Given the description of an element on the screen output the (x, y) to click on. 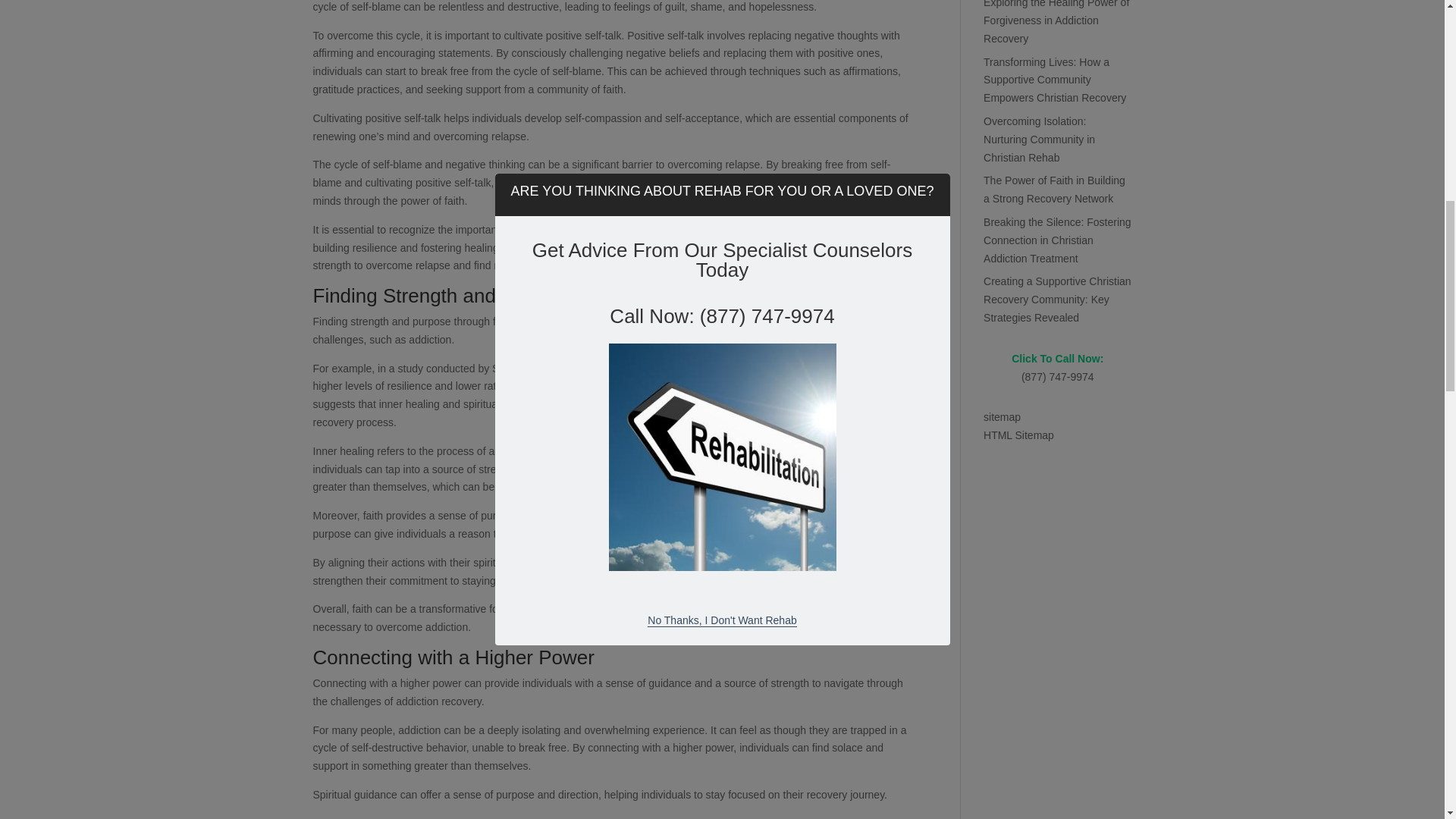
The Power of Faith in Building a Strong Recovery Network (1054, 189)
Overcoming Isolation: Nurturing Community in Christian Rehab (1039, 139)
